Given the description of an element on the screen output the (x, y) to click on. 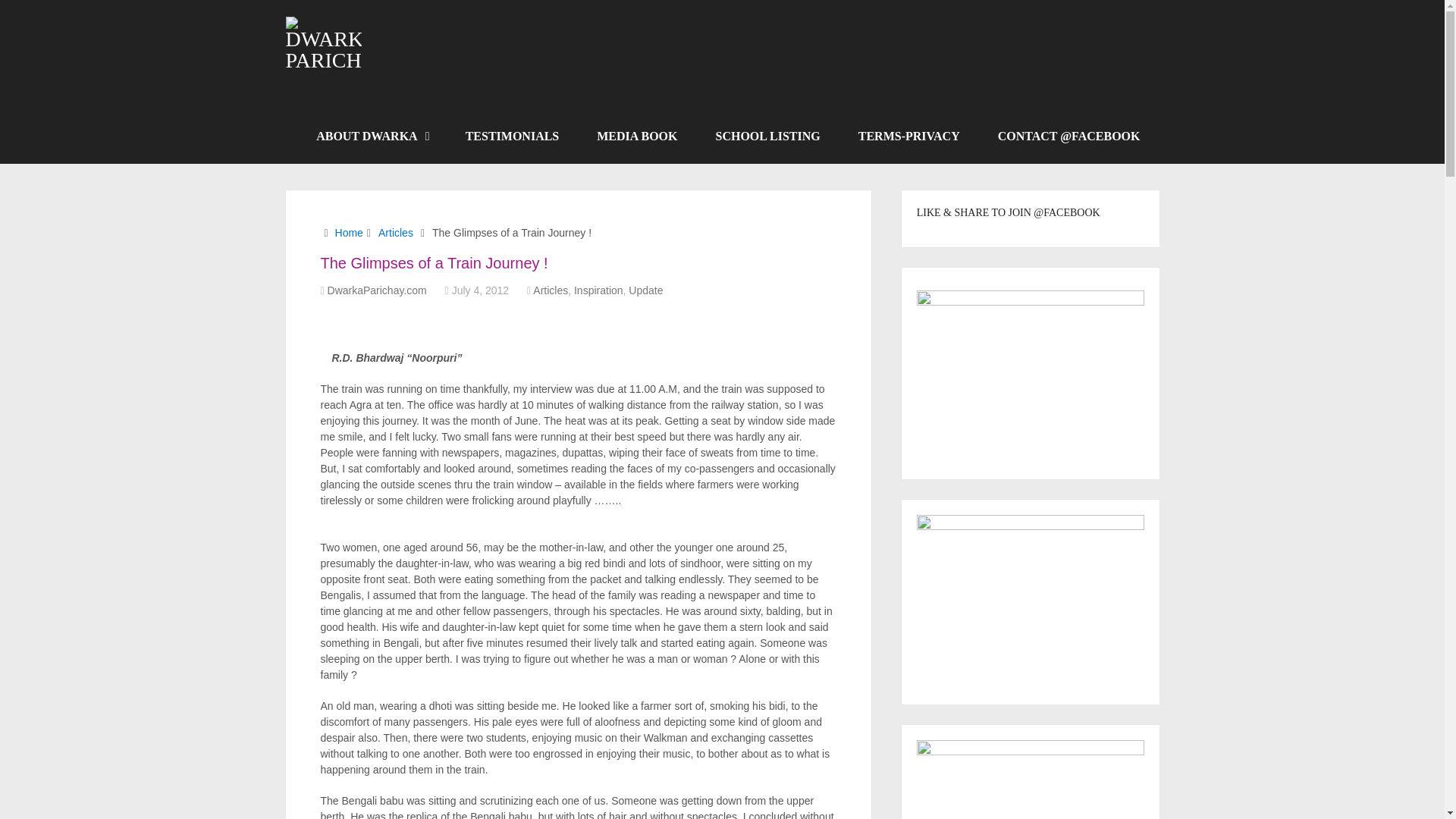
View all posts in Articles (549, 290)
View all posts in Update (645, 290)
DwarkaParichay.com (376, 290)
Update (645, 290)
Articles (549, 290)
View all posts in Inspiration (598, 290)
TERMS-PRIVACY (909, 135)
Inspiration (598, 290)
TESTIMONIALS (512, 135)
SCHOOL LISTING (766, 135)
